Given the description of an element on the screen output the (x, y) to click on. 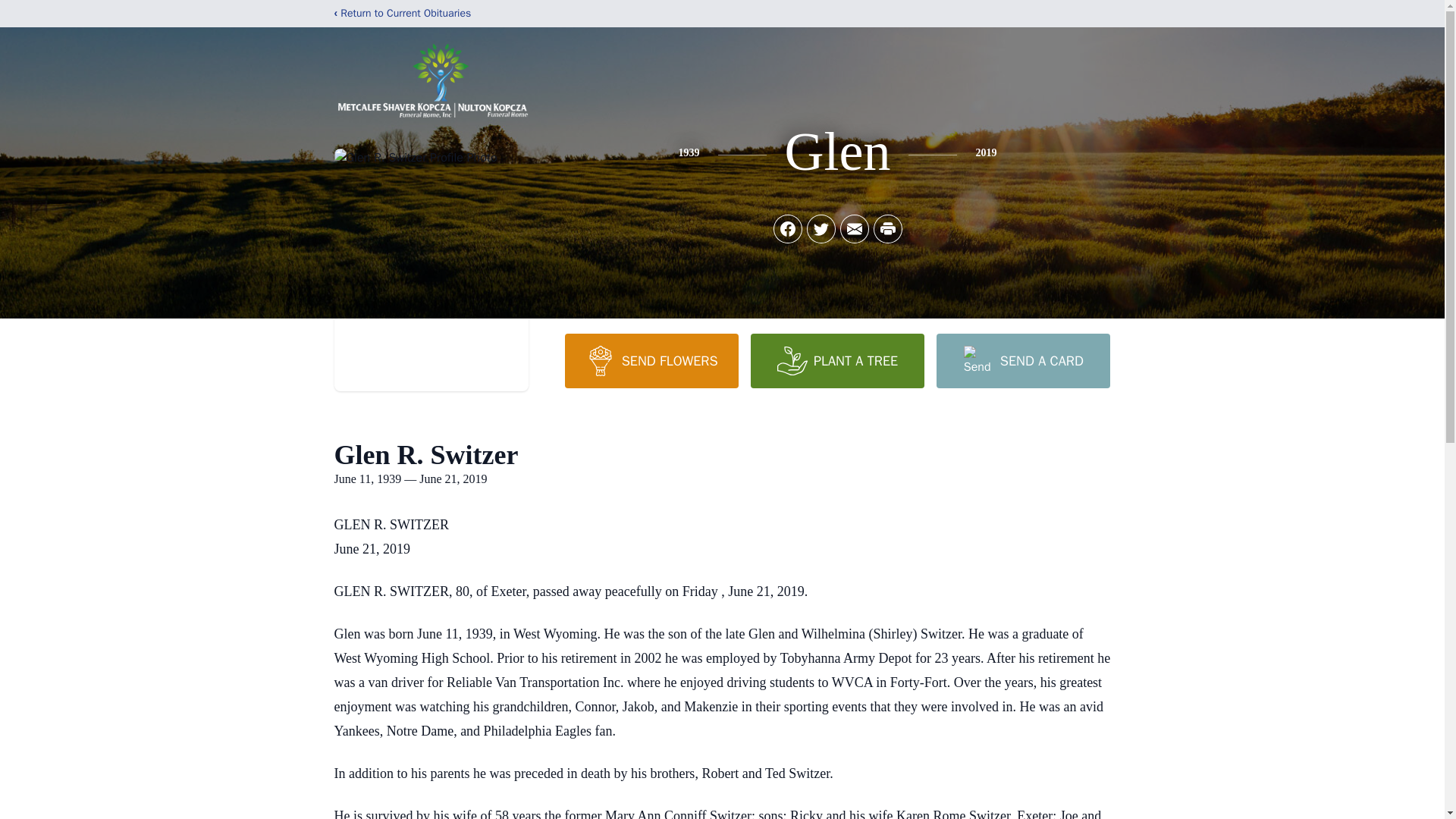
PLANT A TREE (837, 360)
SEND A CARD (1022, 360)
SEND FLOWERS (651, 360)
